Given the description of an element on the screen output the (x, y) to click on. 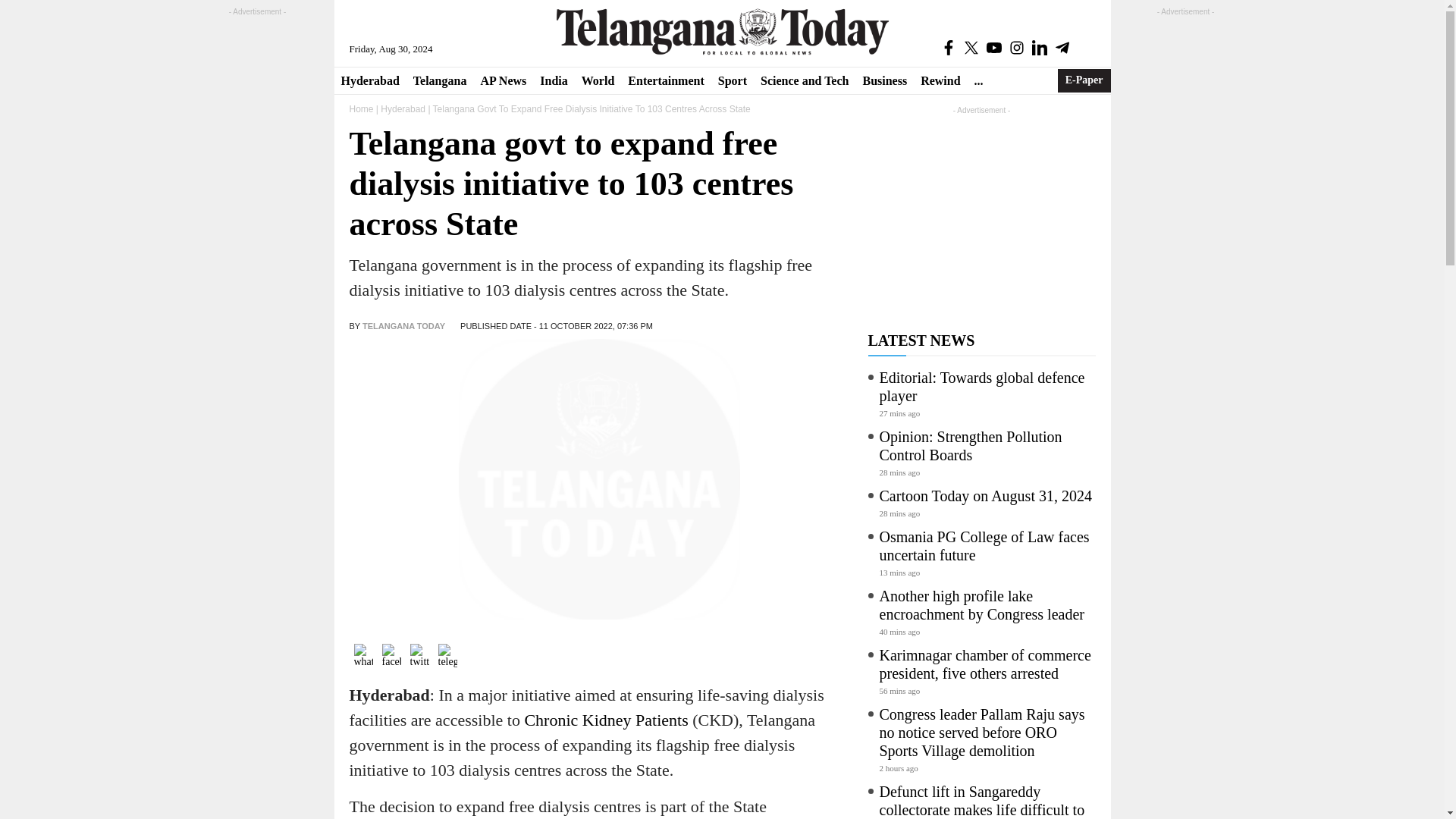
E-Paper (1084, 80)
Rewind (940, 80)
Entertainment (665, 80)
Business (885, 80)
Home (360, 109)
World (598, 80)
Science and Tech (805, 80)
Hyderabad (369, 80)
India (552, 80)
AP News (502, 80)
